Given the description of an element on the screen output the (x, y) to click on. 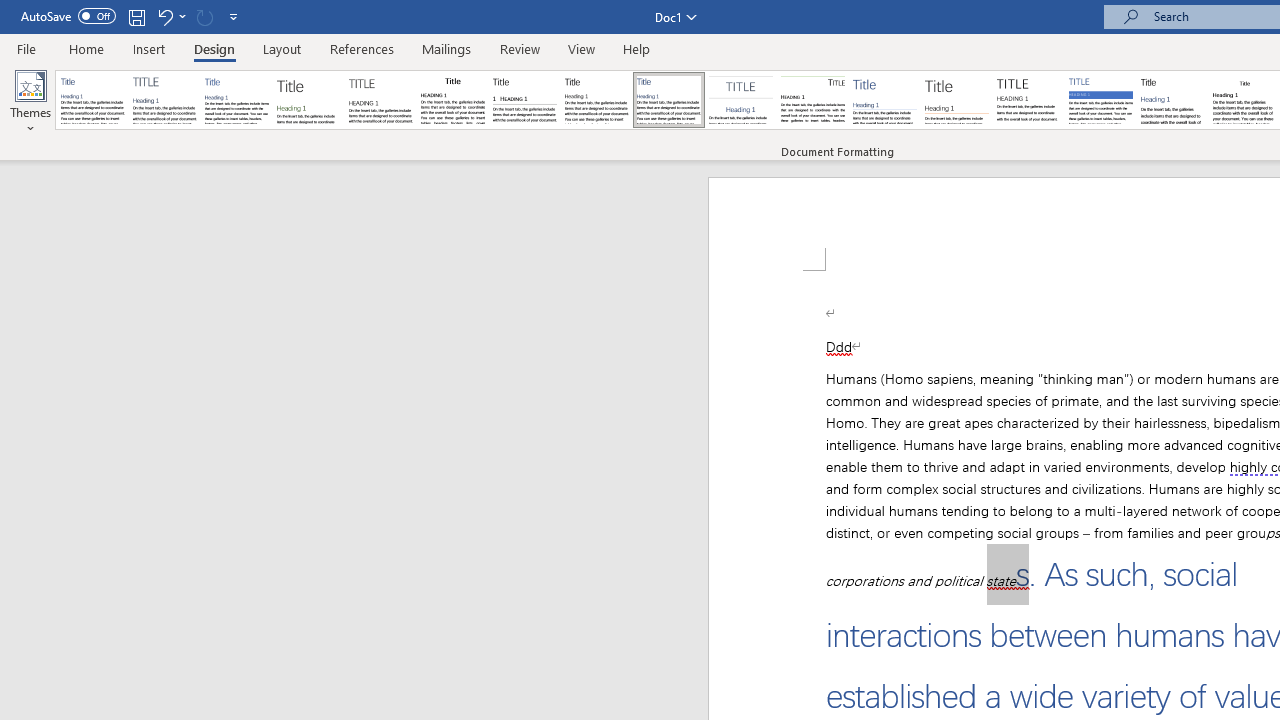
Black & White (Numbered) (524, 100)
Basic (Elegant) (164, 100)
Undo Outline Move Up (164, 15)
Basic (Simple) (236, 100)
Lines (Distinctive) (812, 100)
Basic (Stylish) (308, 100)
Lines (Stylish) (957, 100)
Centered (740, 100)
